Given the description of an element on the screen output the (x, y) to click on. 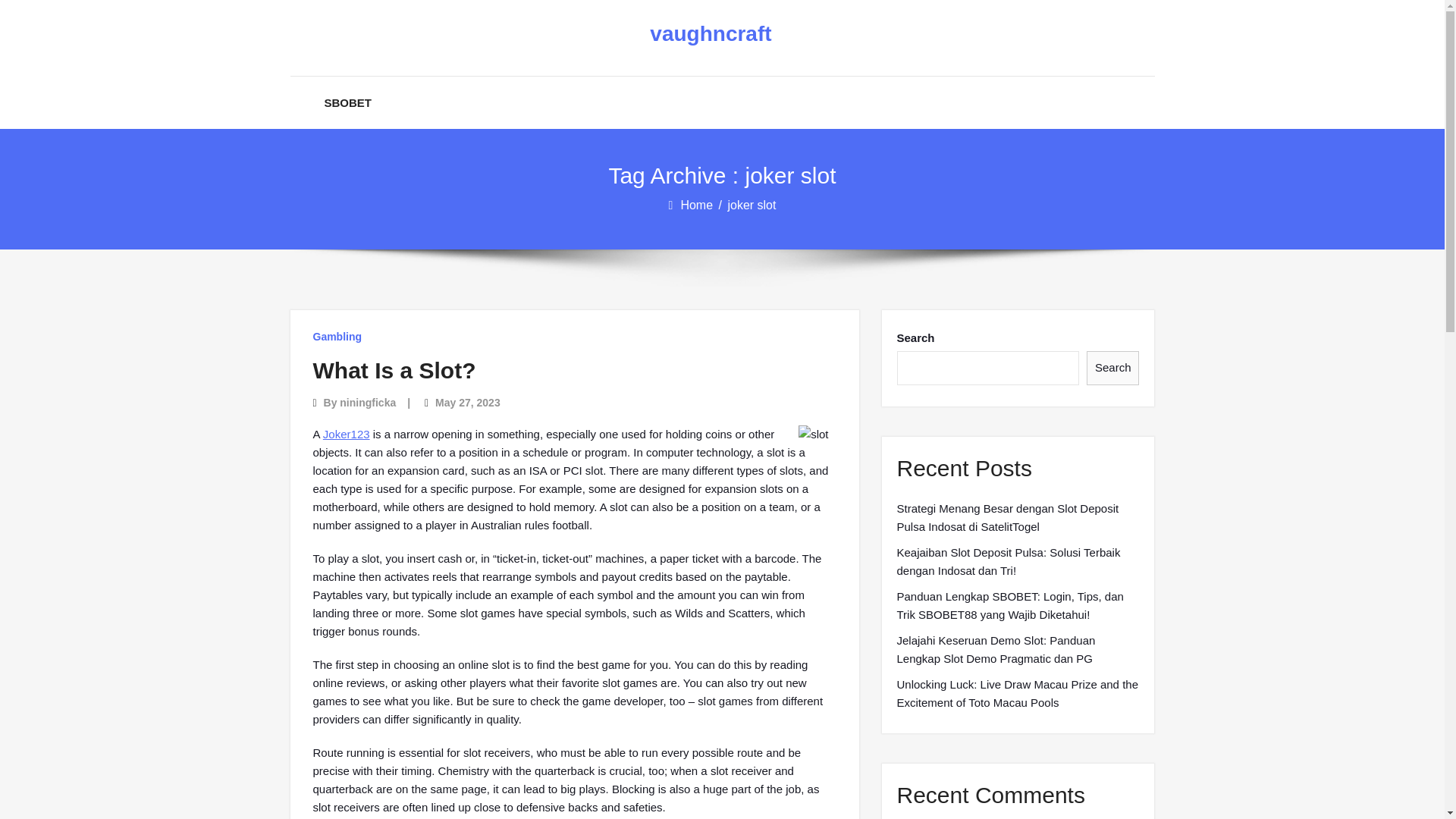
SBOBET (348, 102)
niningficka (367, 402)
Home (696, 205)
Search (1113, 367)
What Is a Slot? (394, 370)
